Given the description of an element on the screen output the (x, y) to click on. 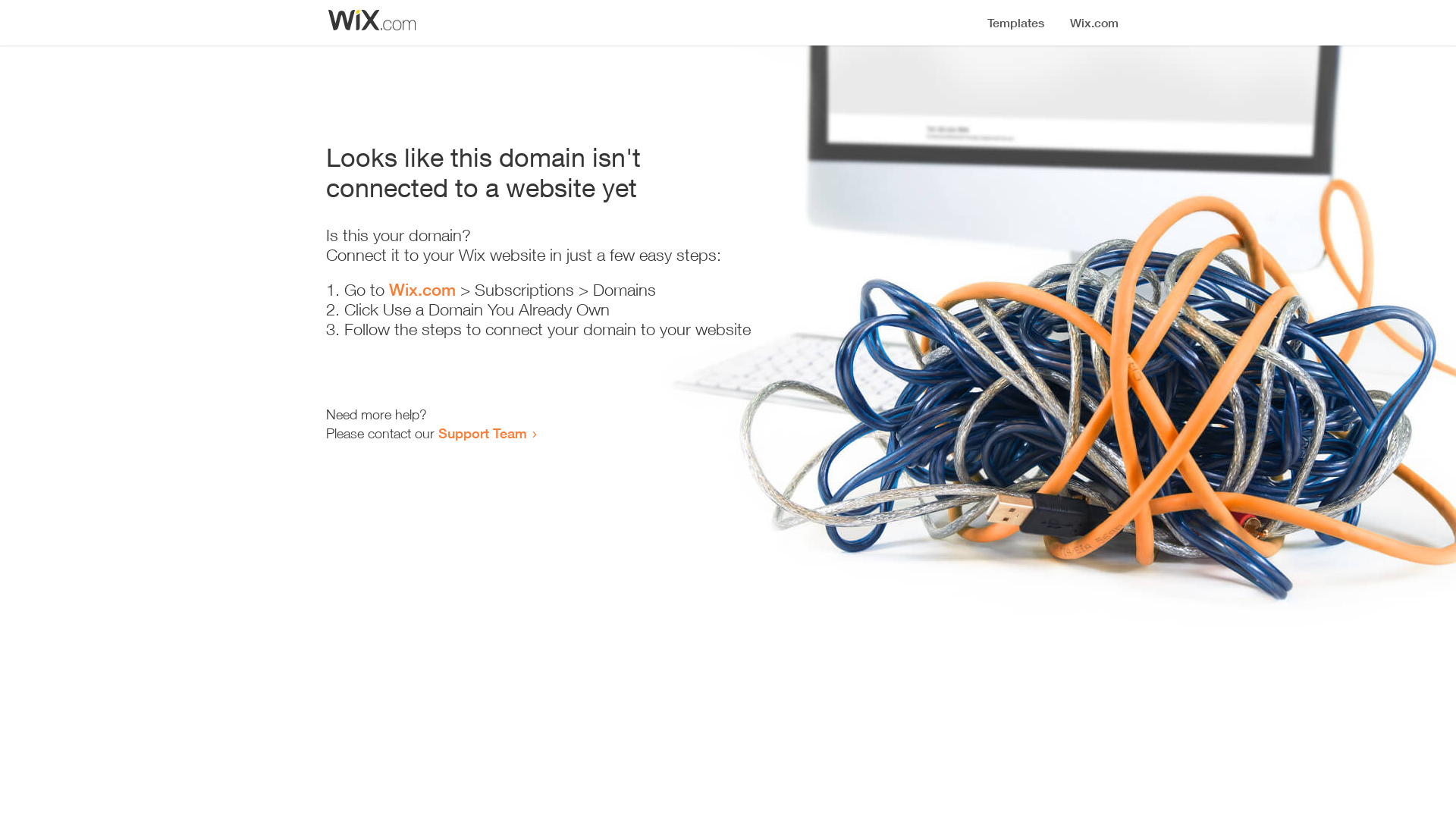
Support Team Element type: text (482, 432)
Wix.com Element type: text (422, 289)
